Given the description of an element on the screen output the (x, y) to click on. 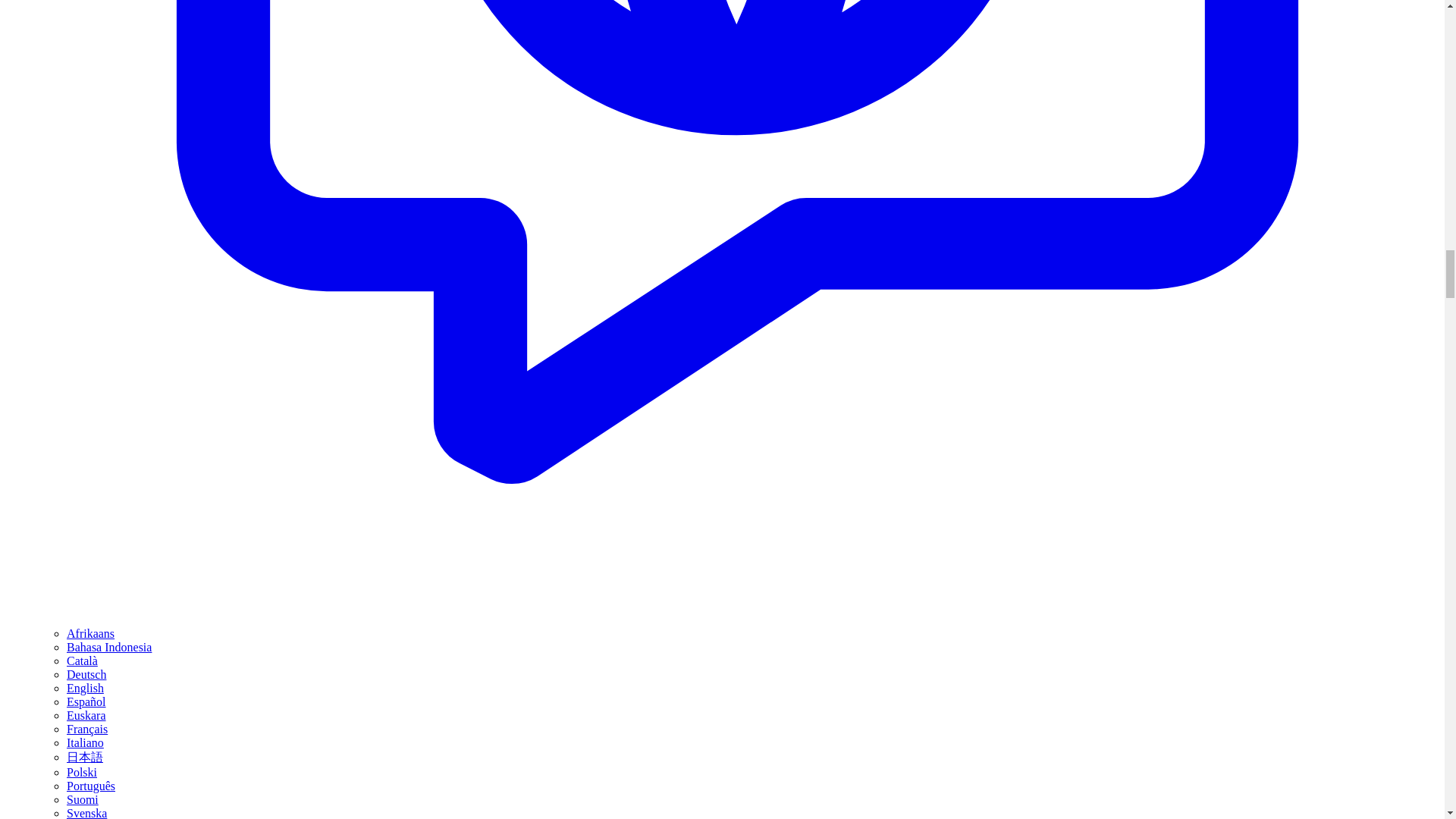
Suomi (82, 799)
Polski (81, 771)
Svenska (86, 812)
English (84, 687)
Italiano (84, 742)
Deutsch (86, 674)
Bahasa Indonesia (108, 646)
Afrikaans (90, 633)
Euskara (86, 715)
